Given the description of an element on the screen output the (x, y) to click on. 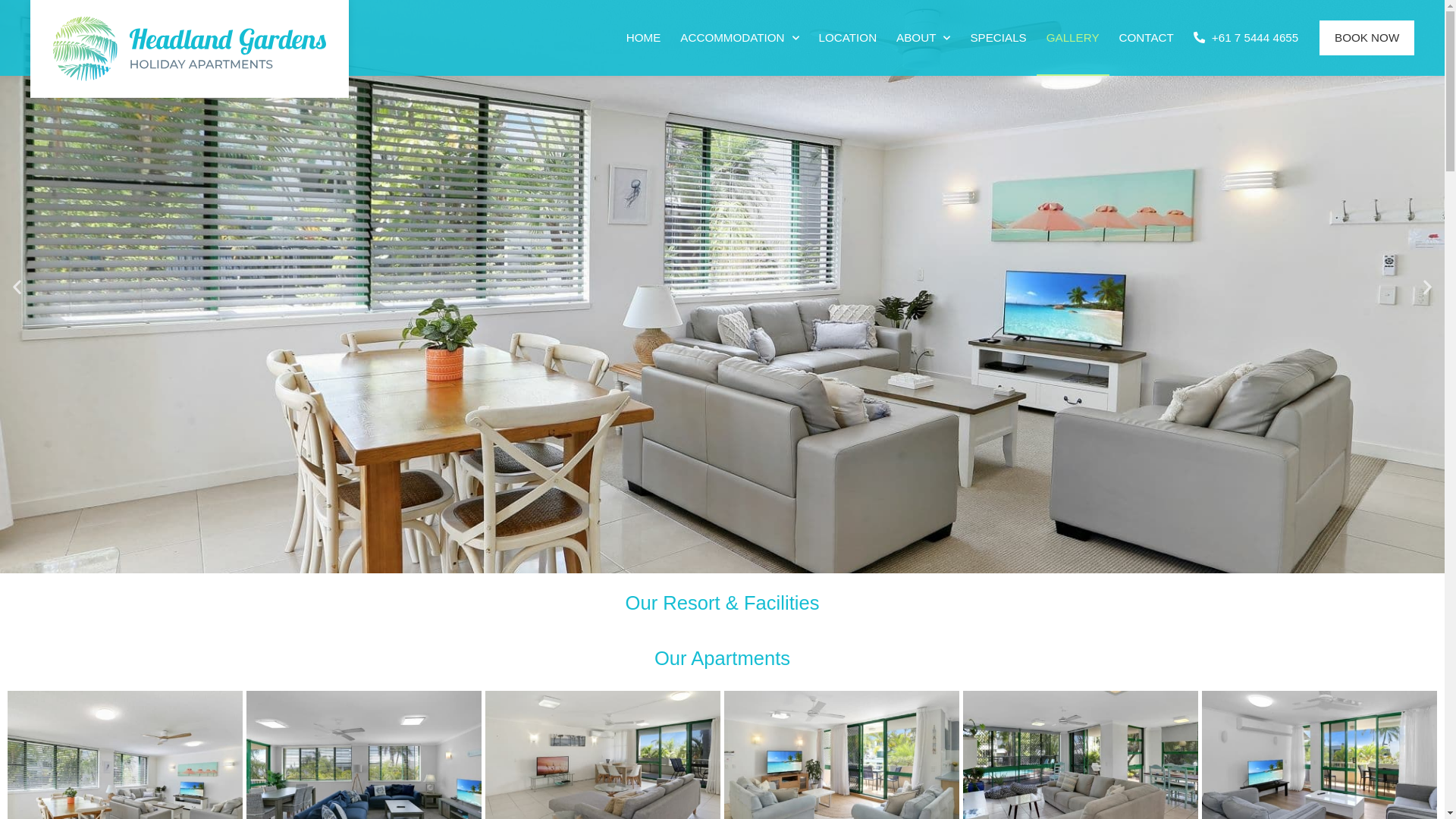
GALLERY Element type: text (1072, 37)
BOOK NOW Element type: text (1366, 37)
+61 7 5444 4655 Element type: text (1245, 37)
CONTACT Element type: text (1146, 37)
ACCOMMODATION Element type: text (739, 37)
SPECIALS Element type: text (997, 37)
ABOUT Element type: text (923, 37)
LOCATION Element type: text (848, 37)
HOME Element type: text (643, 37)
